Given the description of an element on the screen output the (x, y) to click on. 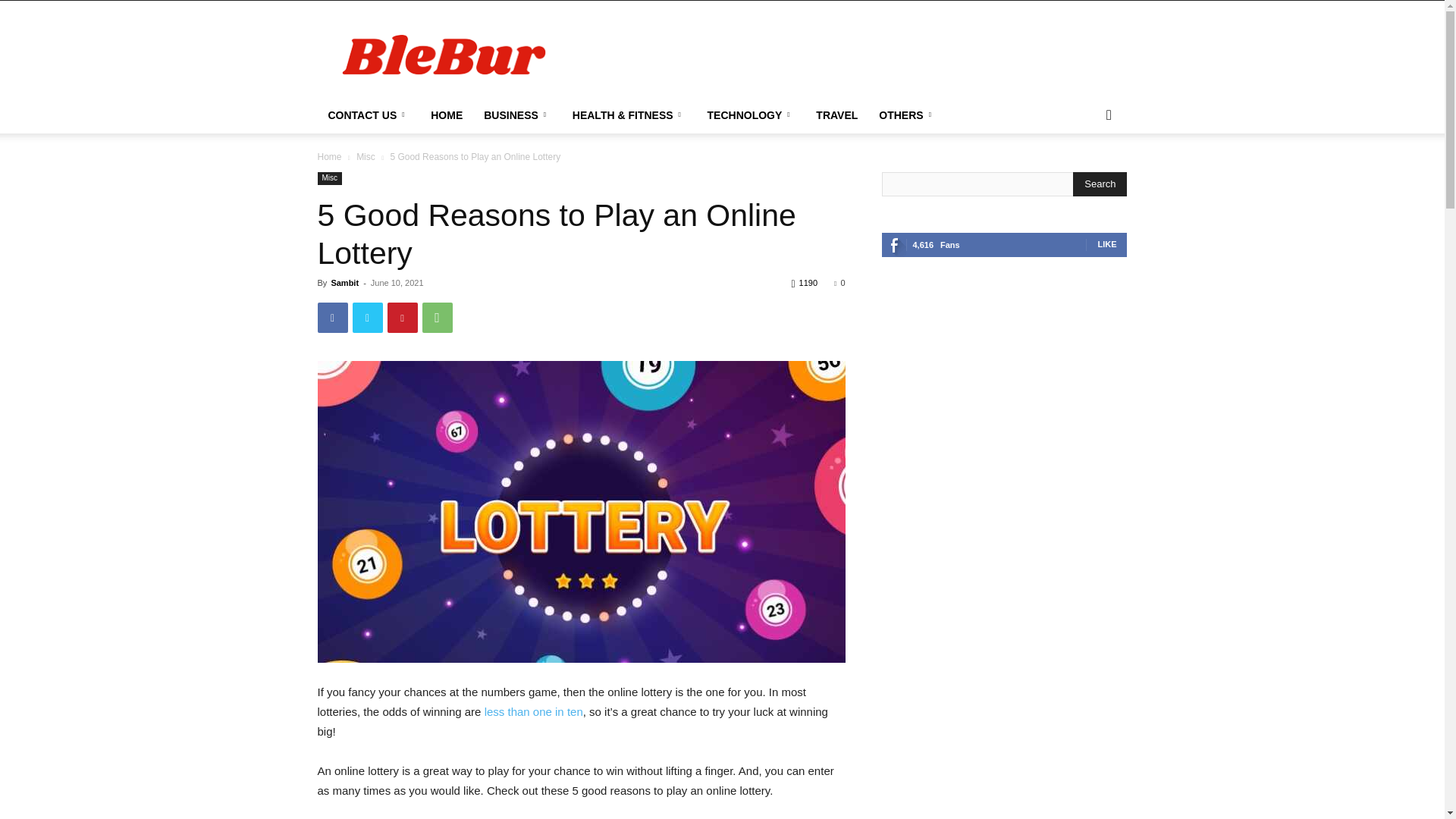
Twitter (366, 317)
HOME (446, 115)
BUSINESS (517, 115)
OTHERS (906, 115)
CONTACT US (368, 115)
WhatsApp (436, 317)
Search (1099, 183)
Facebook (332, 317)
TRAVEL (836, 115)
View all posts in Misc (365, 156)
Pinterest (401, 317)
TECHNOLOGY (751, 115)
